Given the description of an element on the screen output the (x, y) to click on. 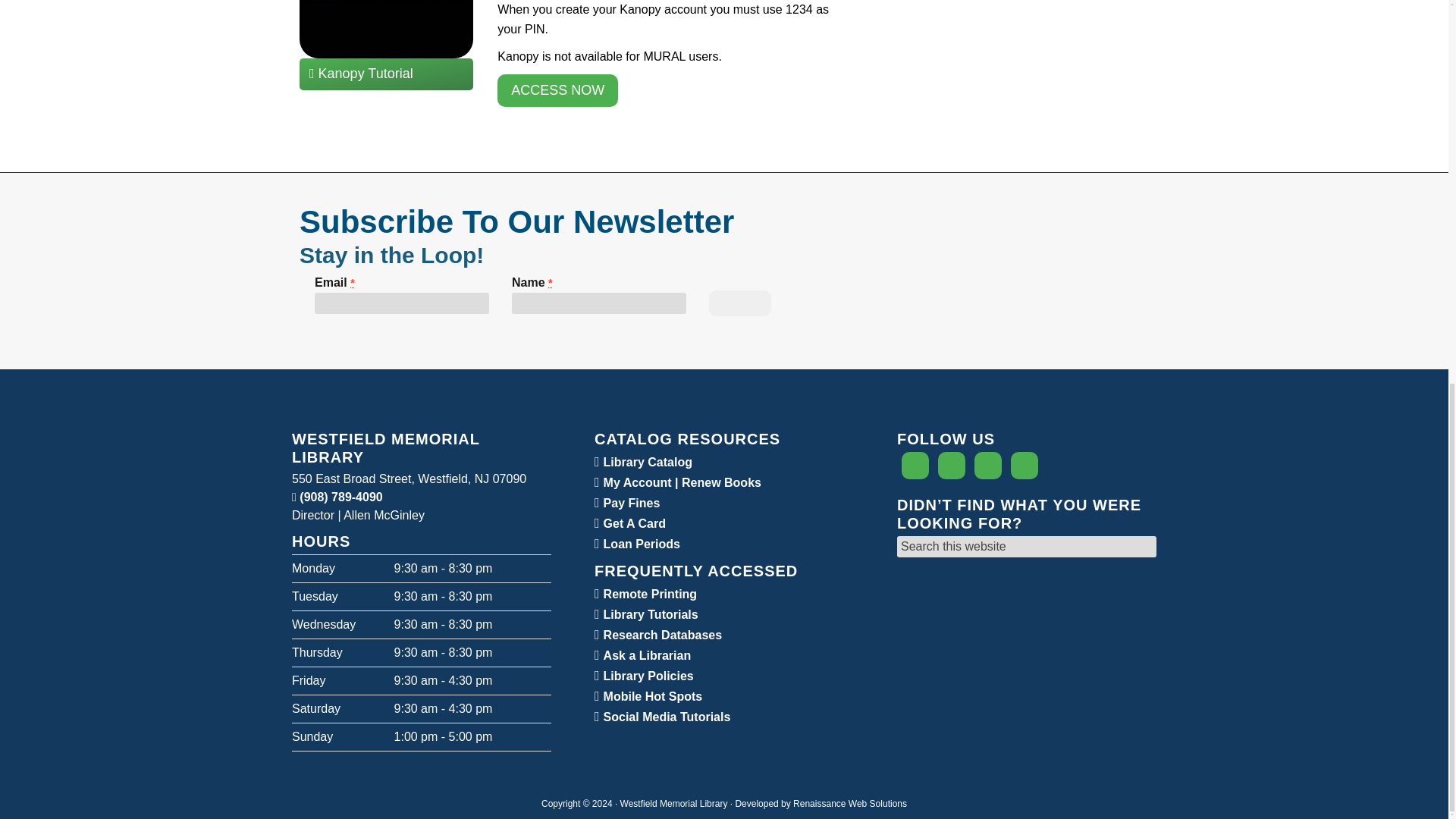
Sign up (740, 303)
Kanopy Tutorial (386, 73)
